Given the description of an element on the screen output the (x, y) to click on. 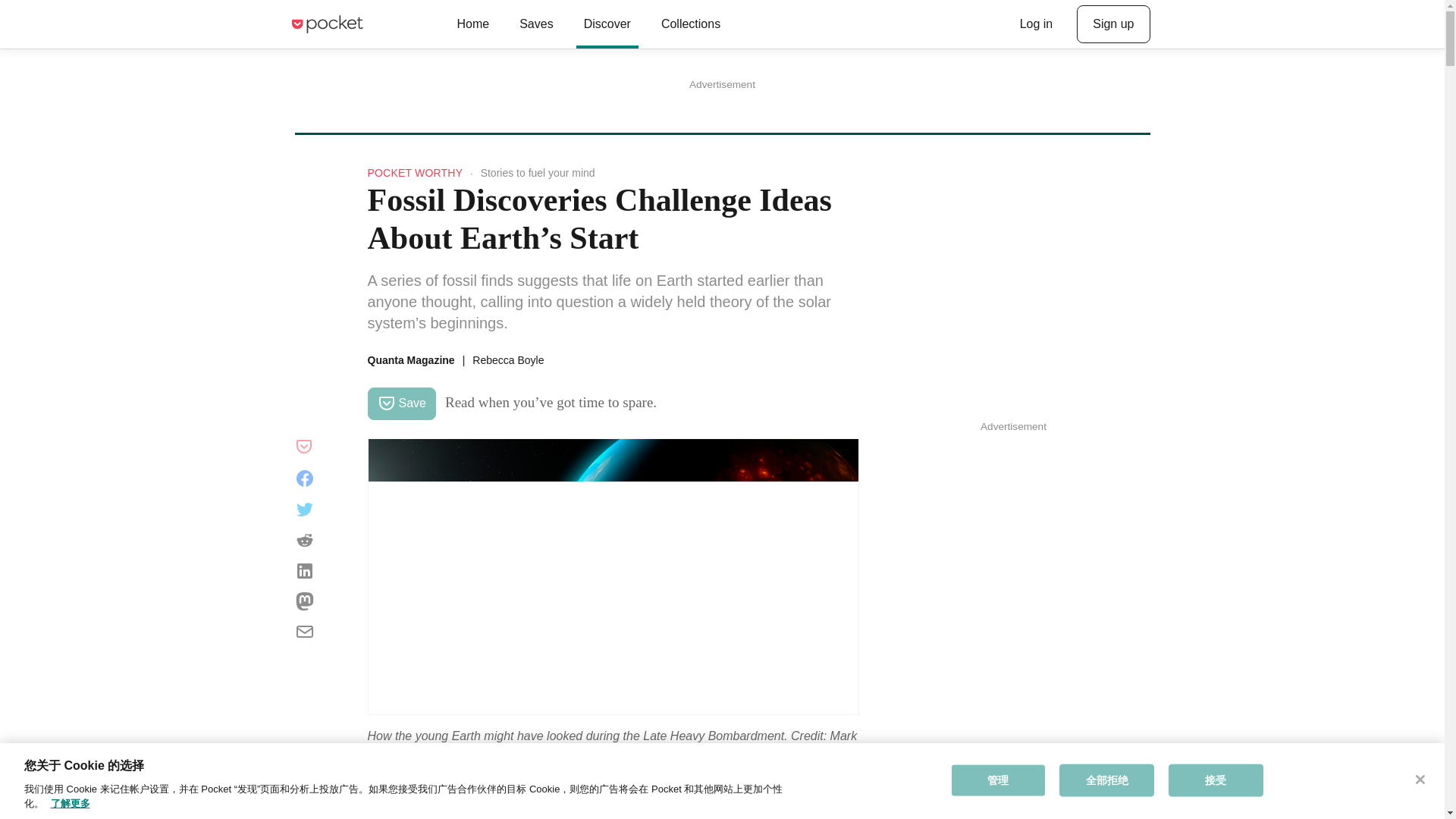
Discover (607, 24)
Collections (690, 24)
Quanta Magazine (410, 359)
Saves (535, 24)
Sign up (1113, 23)
Pocket (326, 24)
Home (472, 24)
Save (400, 403)
Log in (1036, 24)
